Given the description of an element on the screen output the (x, y) to click on. 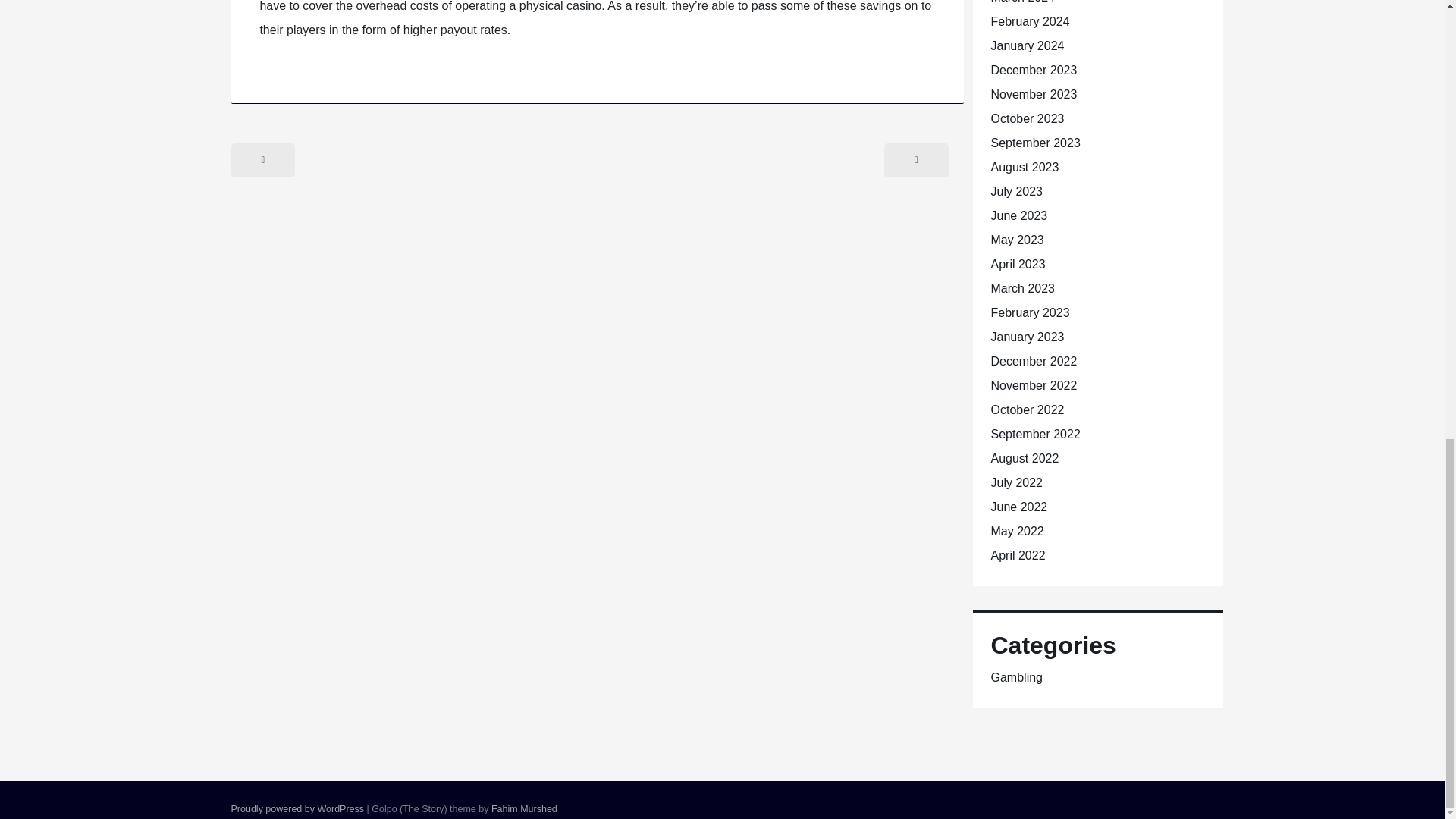
June 2022 (1018, 506)
August 2023 (1024, 166)
June 2023 (1018, 215)
May 2023 (1016, 239)
April 2023 (1017, 264)
August 2022 (1024, 458)
February 2023 (1029, 312)
November 2023 (1033, 93)
November 2022 (1033, 385)
January 2023 (1027, 336)
